Given the description of an element on the screen output the (x, y) to click on. 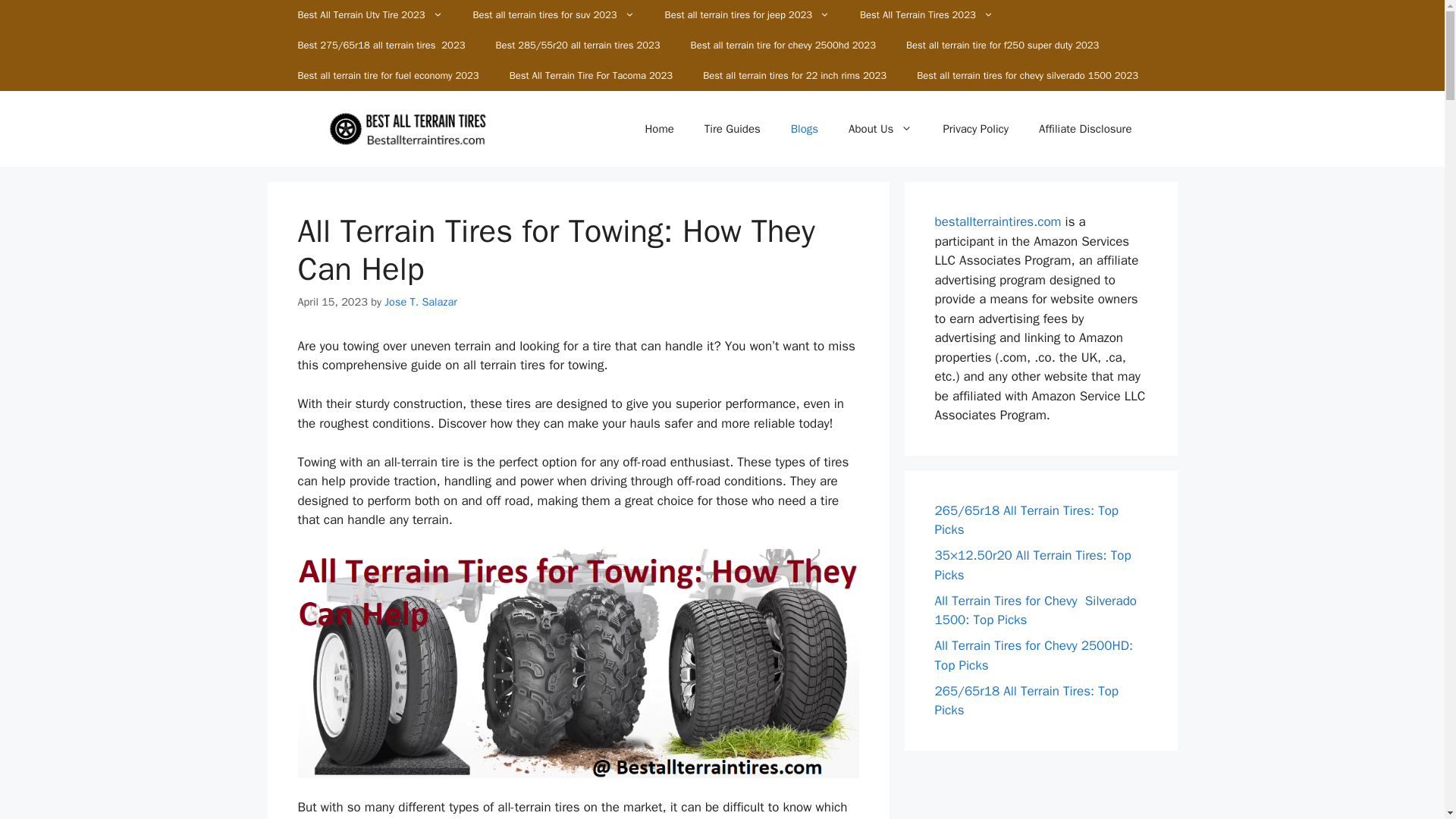
View all posts by Jose T. Salazar (420, 301)
Best all terrain tires for suv 2023 (553, 15)
Best All Terrain Tires 2023 (926, 15)
Best All Terrain Utv Tire 2023 (369, 15)
Best all terrain tire for chevy 2500hd 2023 (783, 45)
Best all terrain tires for jeep 2023 (746, 15)
